Given the description of an element on the screen output the (x, y) to click on. 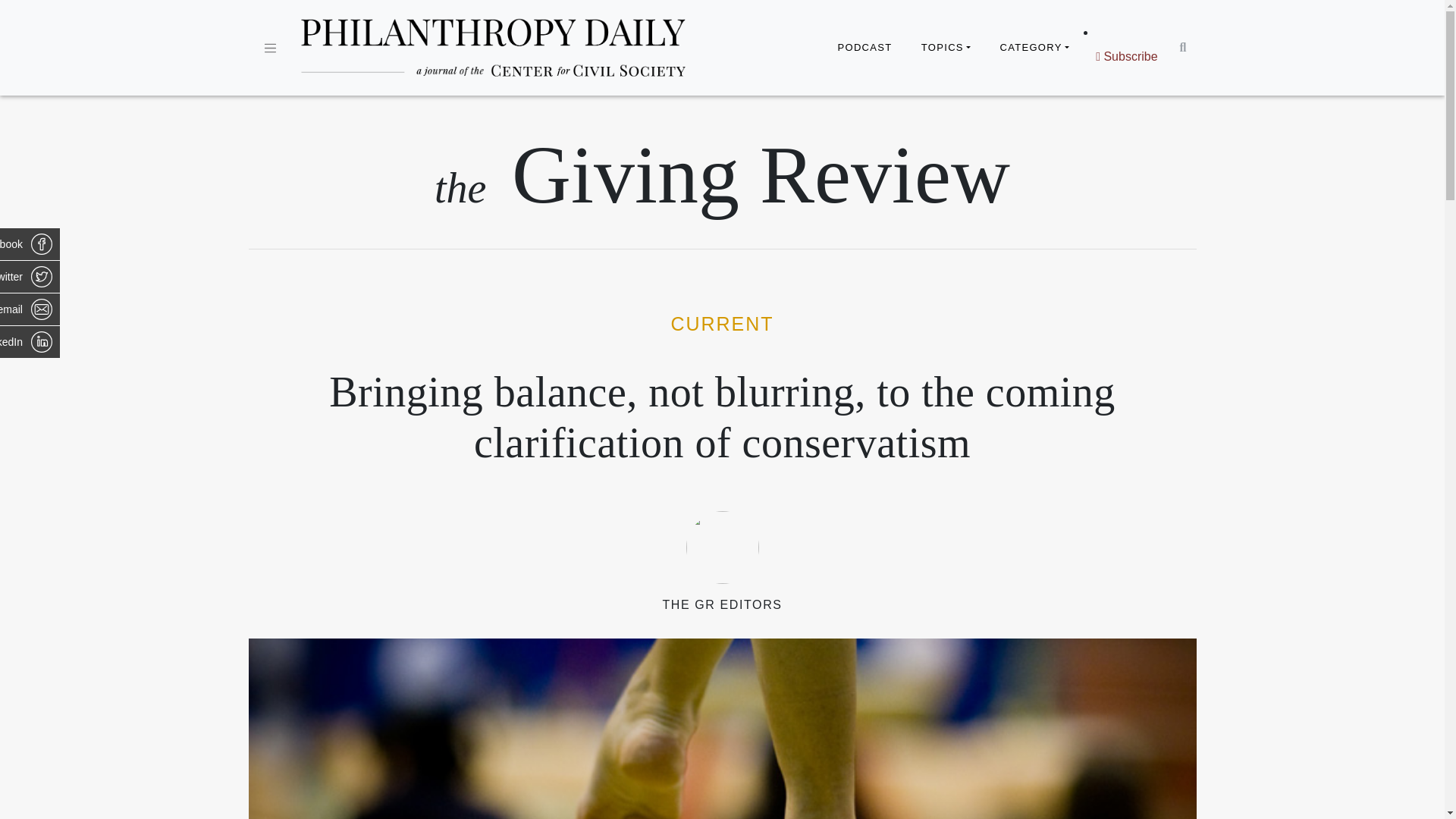
Share on LinkedIn (29, 341)
Share on Twitter (29, 276)
  Share on Facebook (29, 244)
PODCAST (864, 47)
Share via email (29, 309)
TOPICS (945, 47)
